Given the description of an element on the screen output the (x, y) to click on. 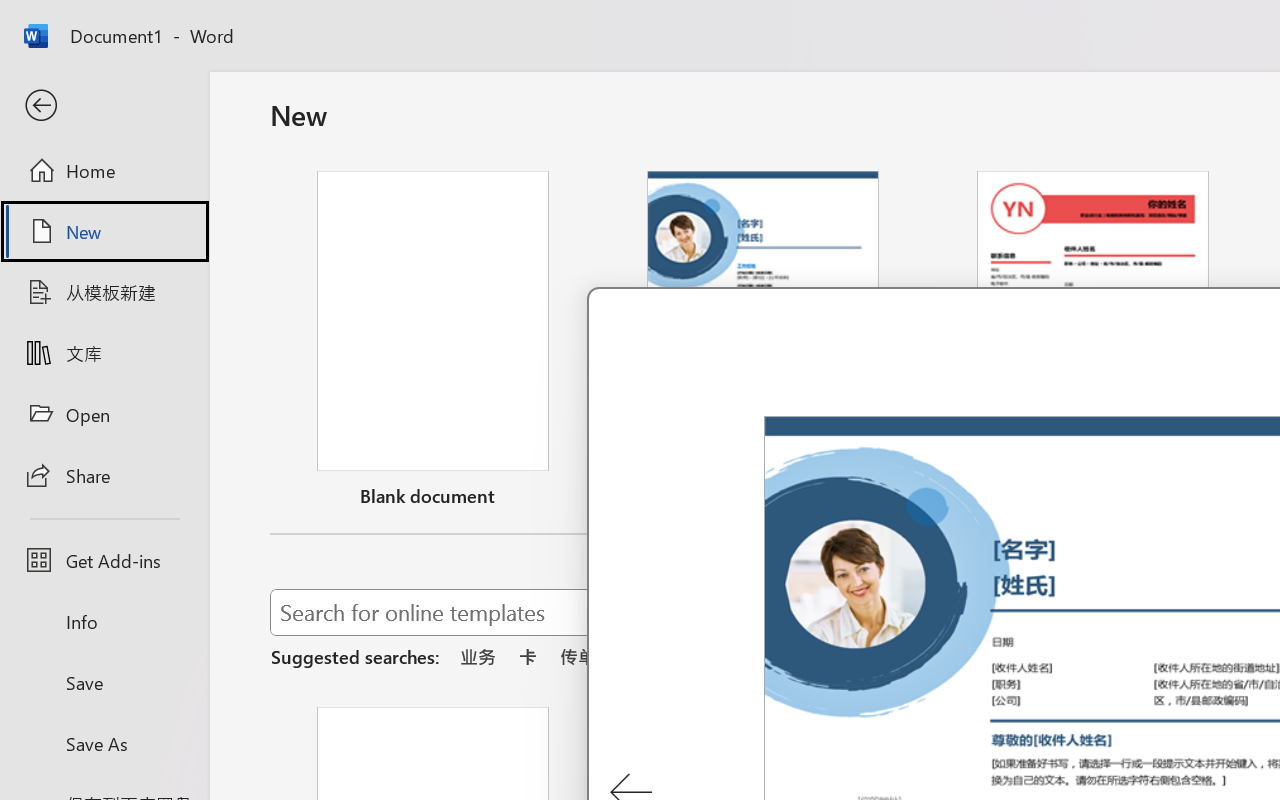
Back (104, 106)
Search for online templates (718, 615)
Unpin from list (1223, 499)
Info (104, 621)
Get Add-ins (104, 560)
